Given the description of an element on the screen output the (x, y) to click on. 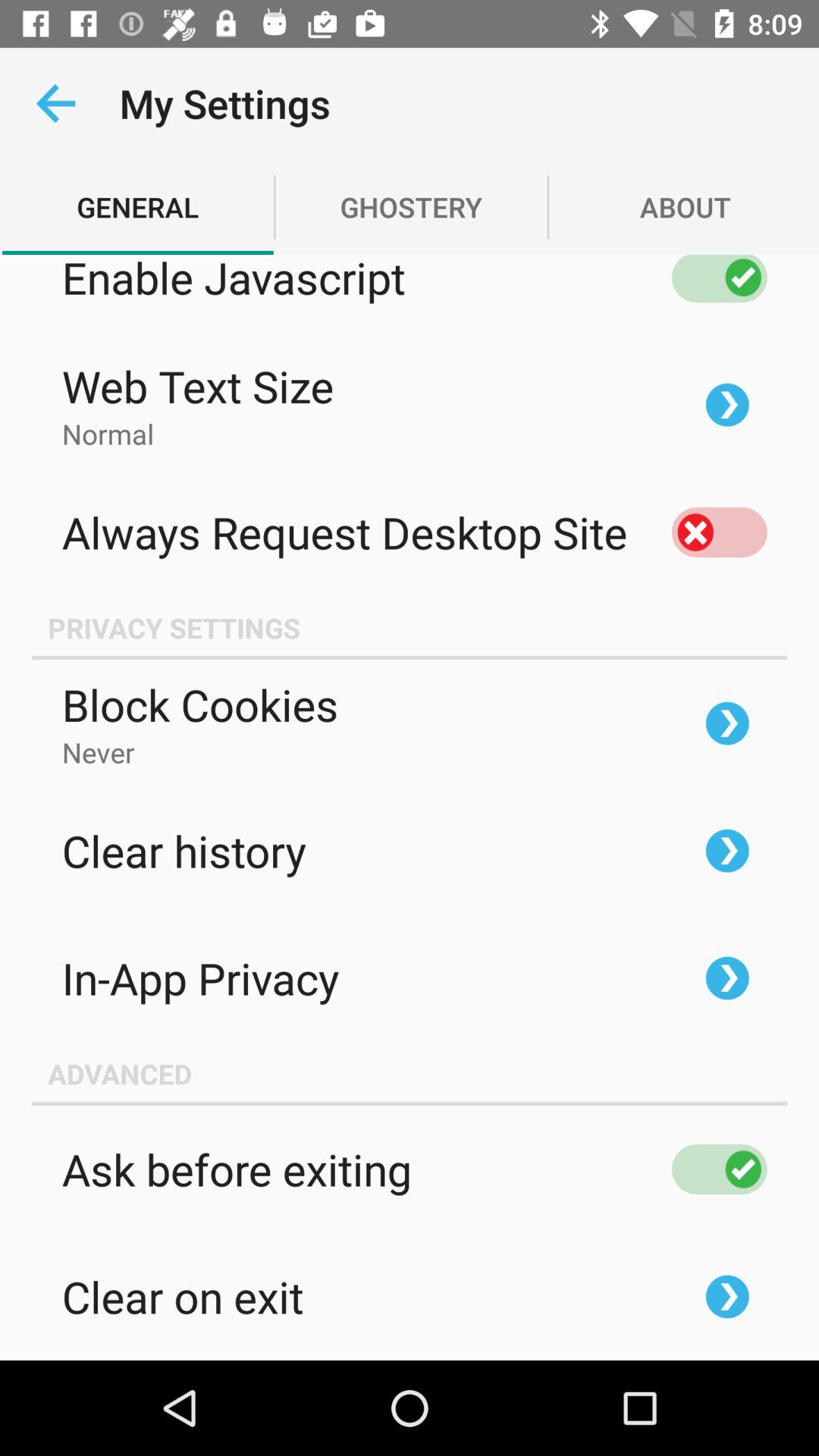
select the radio button which is to the right of always request desktop site (719, 531)
bottom right  clear on exit (727, 1296)
select the ghostery icon beside the general icon (411, 206)
click on the arrow button beside block cookies (727, 723)
click on the right mark next to ask before exiting (719, 1168)
